Given the description of an element on the screen output the (x, y) to click on. 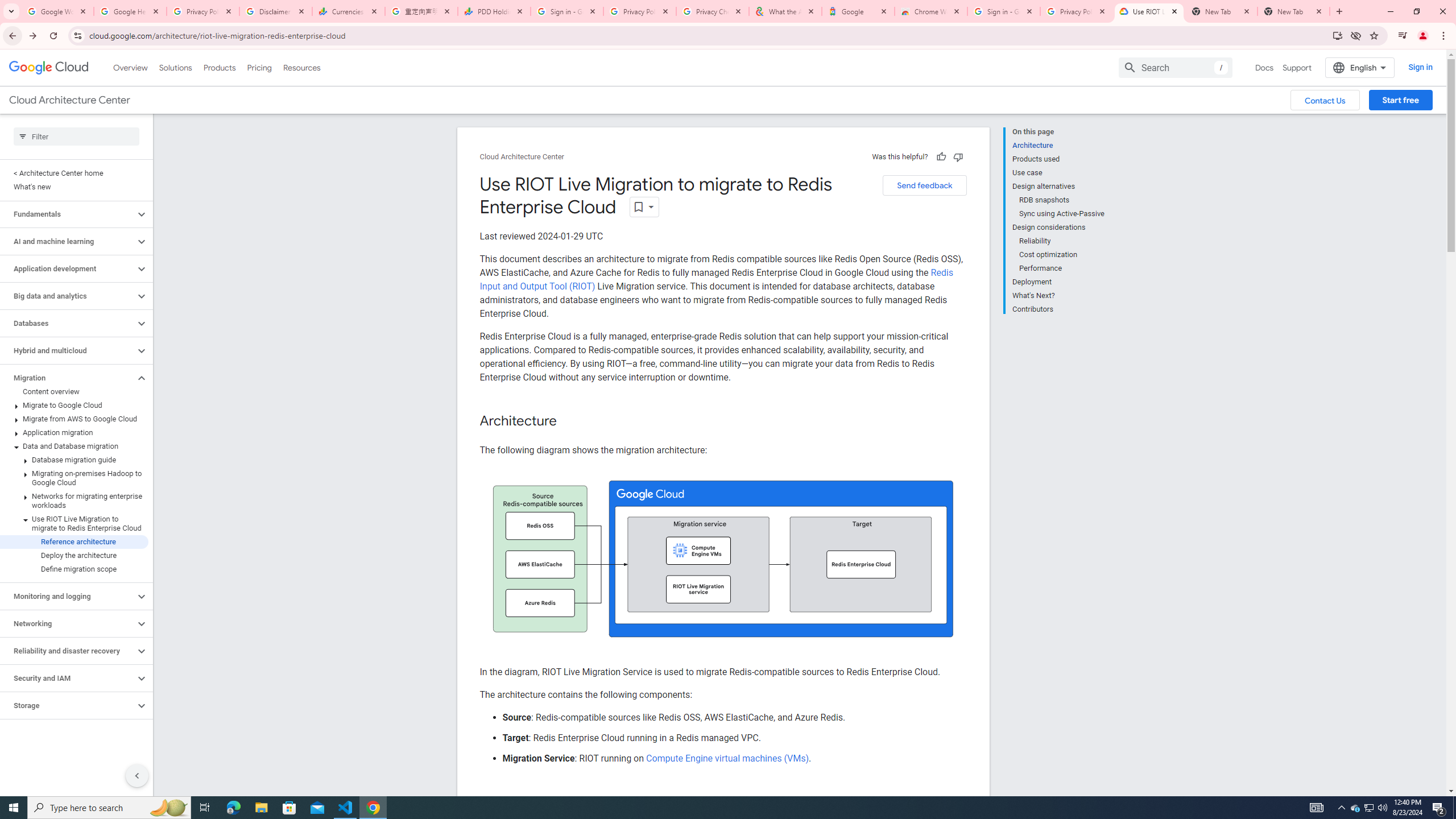
Security and IAM (67, 678)
Currencies - Google Finance (348, 11)
Hybrid and multicloud (67, 350)
Products used (1058, 159)
Cloud Architecture Center (521, 156)
Architecture (1058, 145)
< Architecture Center home (74, 173)
Define migration scope (74, 568)
Resources (301, 67)
Migration (67, 377)
Google Workspace Admin Community (57, 11)
